Given the description of an element on the screen output the (x, y) to click on. 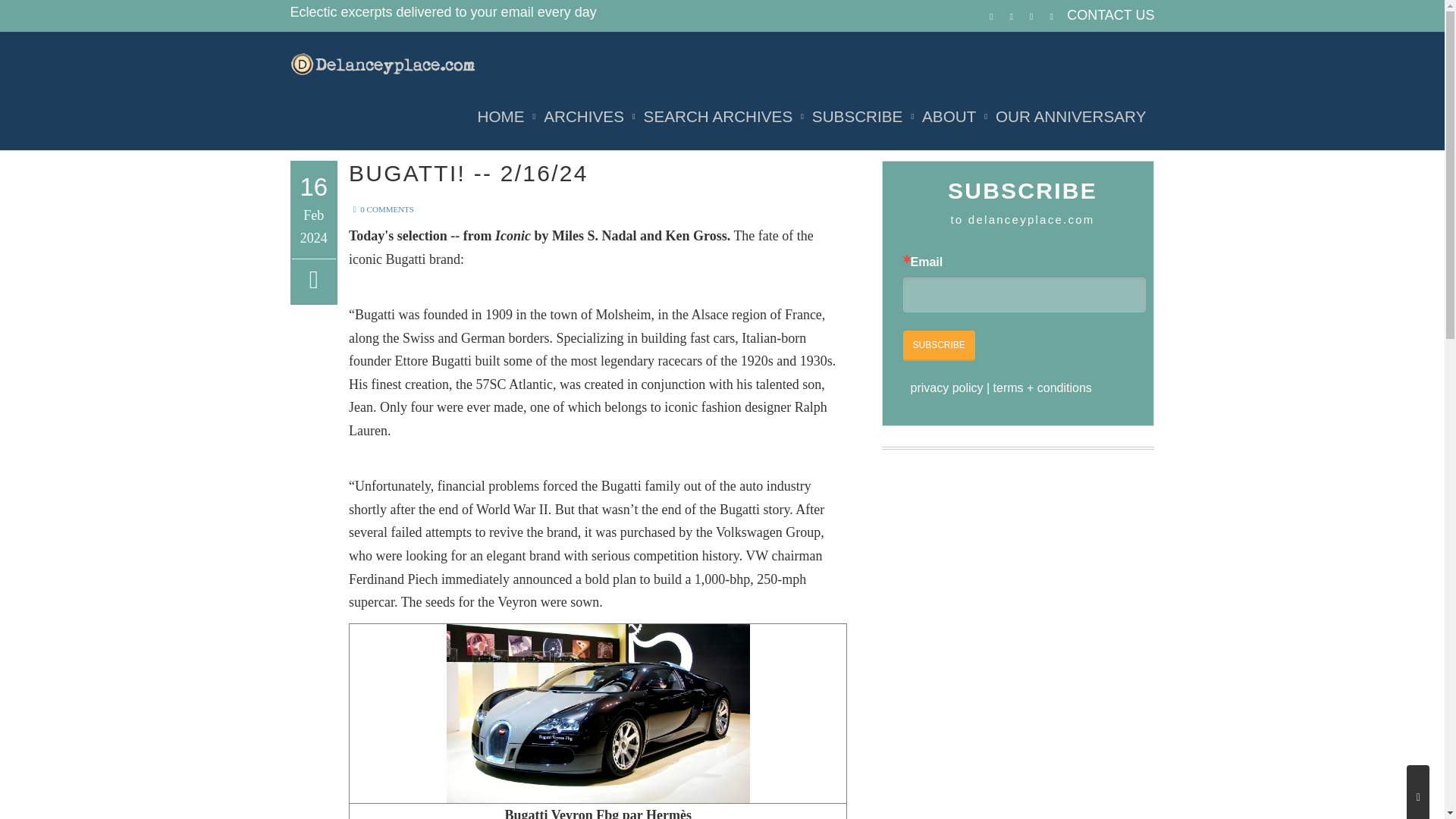
CONTACT US (1110, 14)
ARCHIVES (583, 116)
0 COMMENTS (381, 208)
SEARCH ARCHIVES (718, 116)
HOME (500, 116)
SUBSCRIBE (857, 116)
ABOUT (949, 116)
OUR ANNIVERSARY (1070, 116)
